Given the description of an element on the screen output the (x, y) to click on. 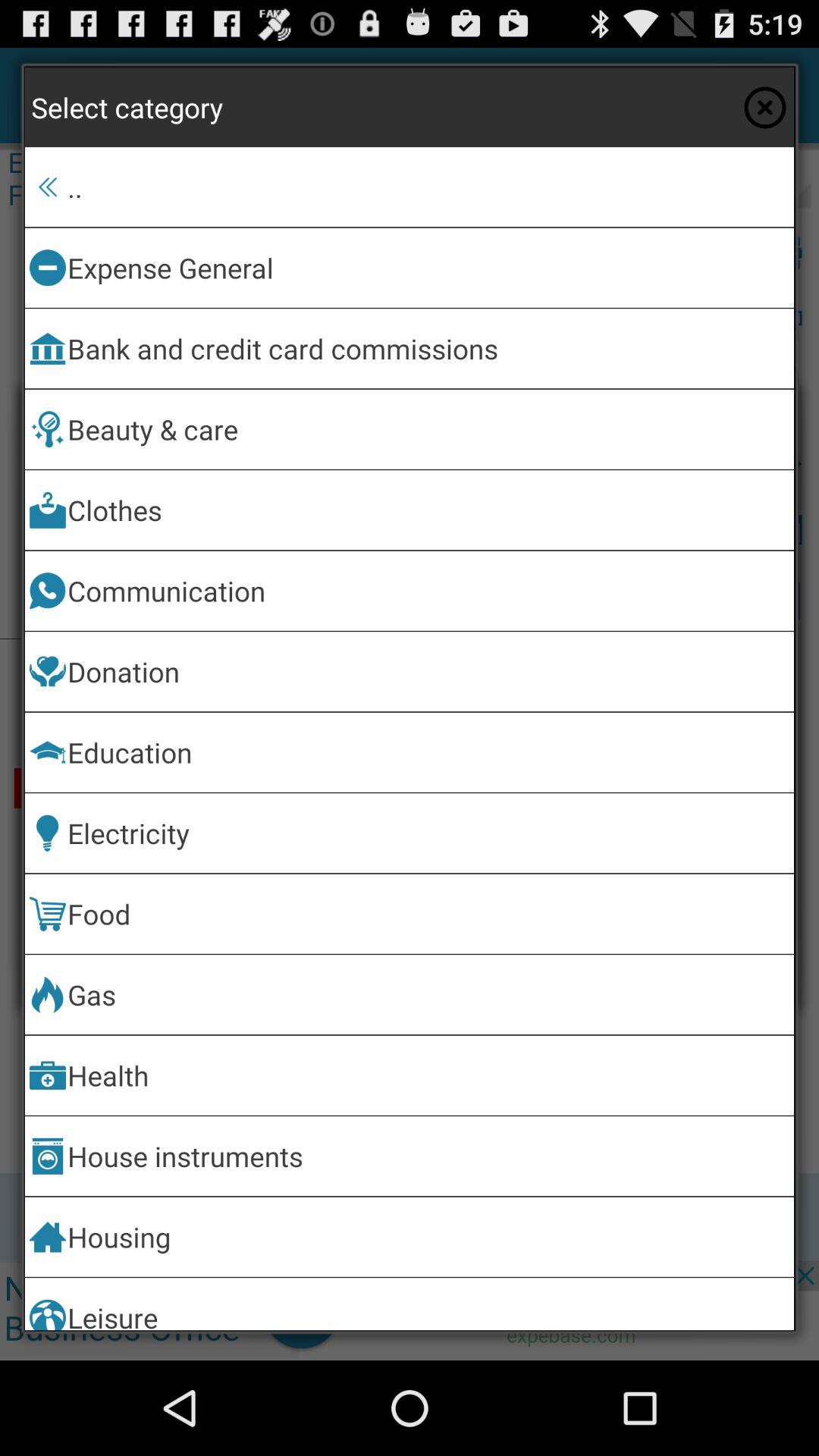
open the item above the housing item (427, 1156)
